Given the description of an element on the screen output the (x, y) to click on. 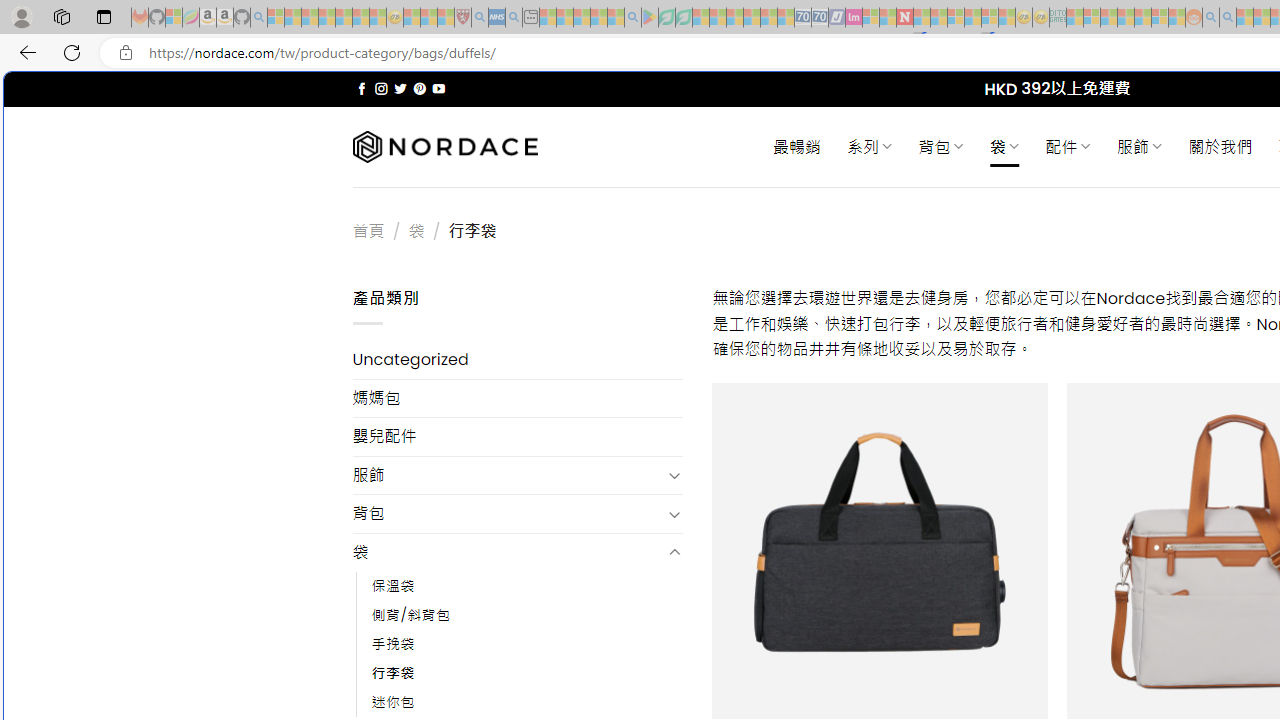
Follow on Pinterest (419, 88)
Follow on Facebook (361, 88)
Uncategorized (517, 359)
